Given the description of an element on the screen output the (x, y) to click on. 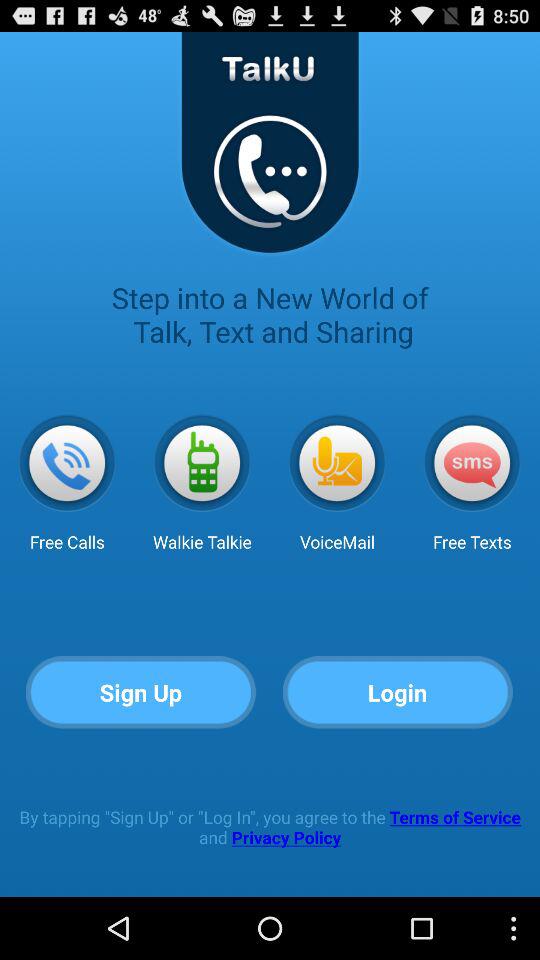
turn on the app at the bottom (269, 826)
